Given the description of an element on the screen output the (x, y) to click on. 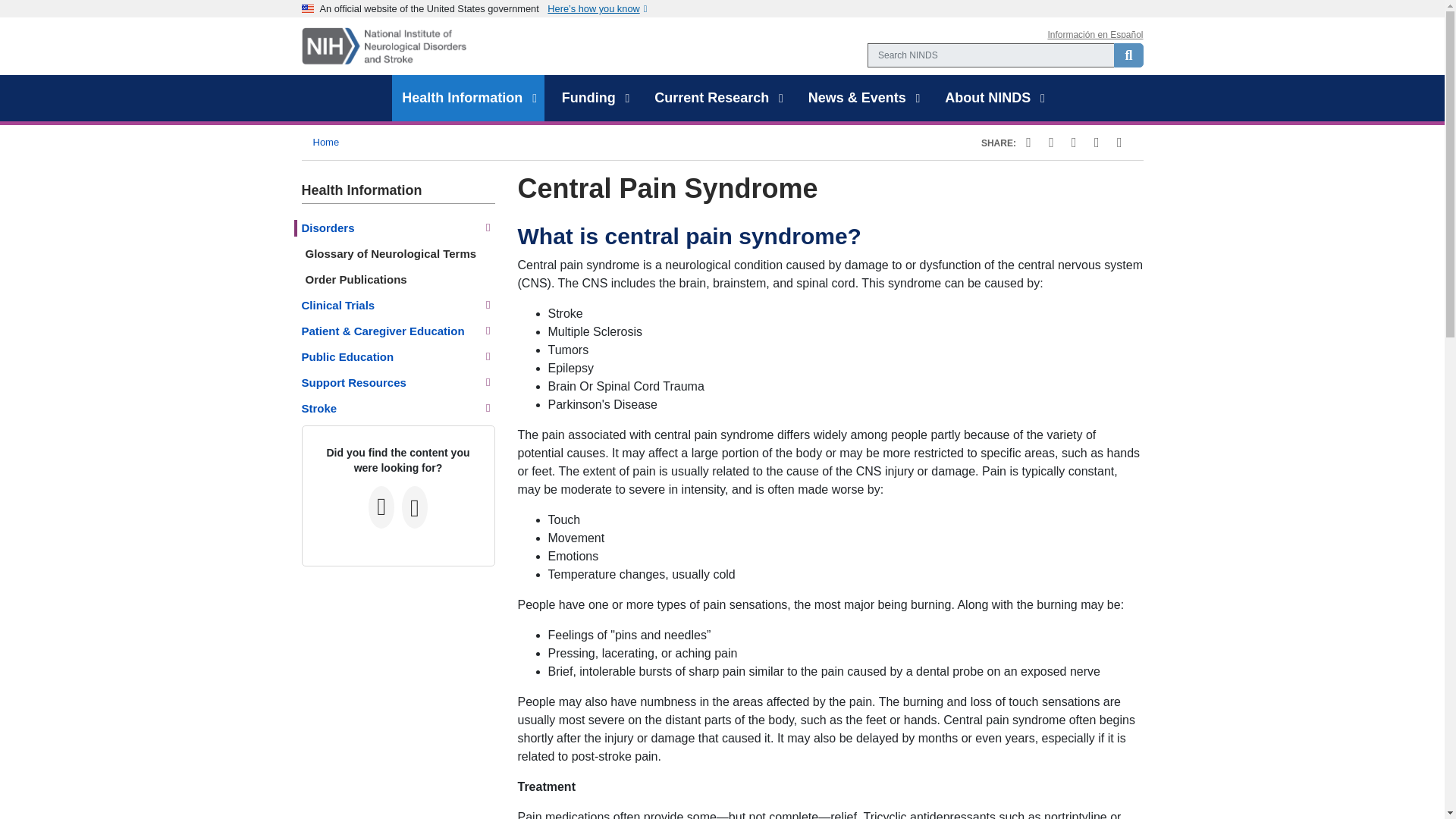
Share on Reddit (1074, 143)
Share on Facebook (1028, 143)
Home page for Know Stroke (323, 408)
Email this Page (1096, 143)
Landing Page for About NINDS (987, 97)
Landing Page for Health Information (462, 97)
Landing Page for Current Research (710, 97)
Landing Page for Funding (588, 97)
Print (1115, 143)
Skip to main content (721, 1)
